Given the description of an element on the screen output the (x, y) to click on. 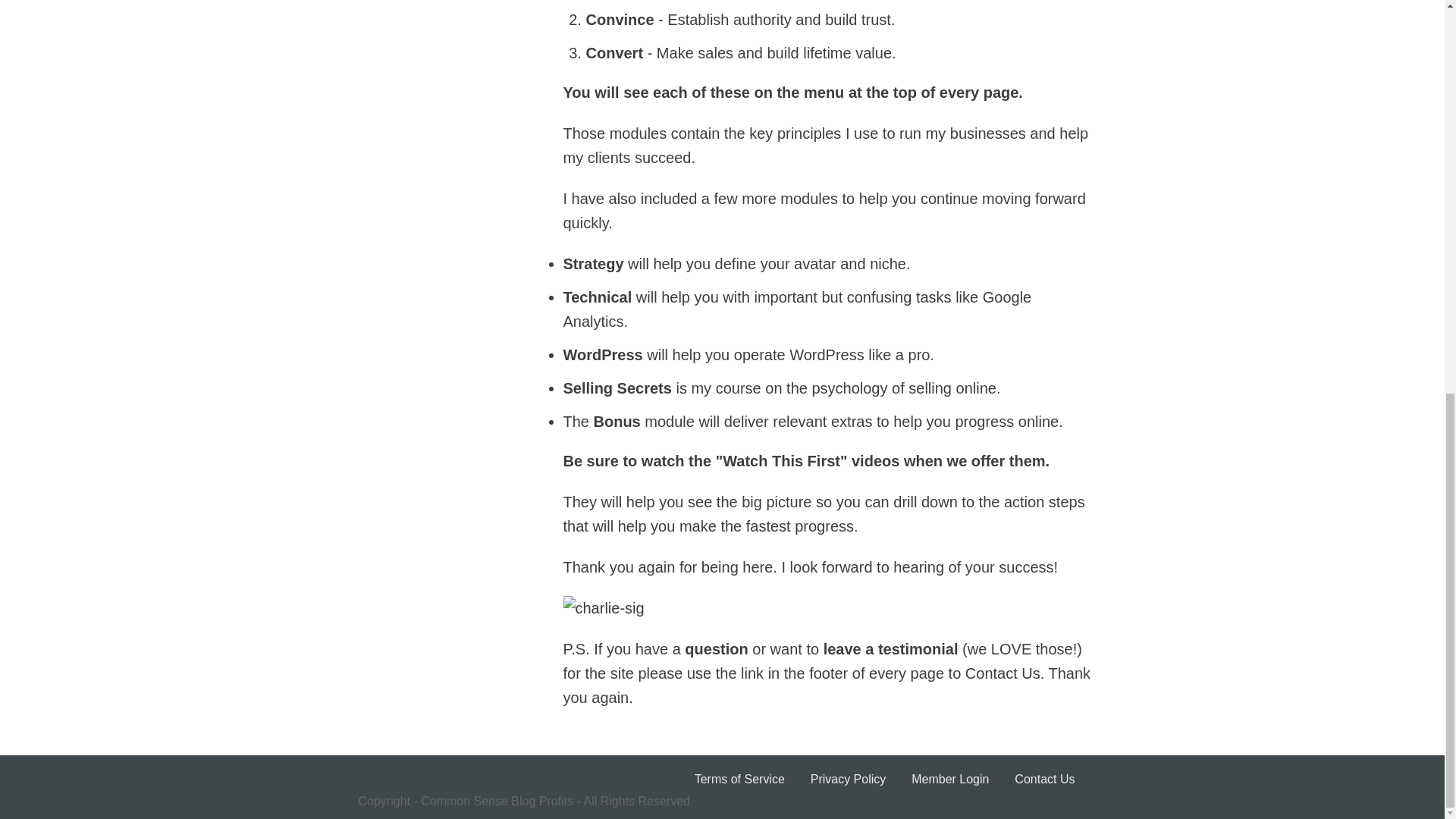
Member Login (949, 779)
Privacy Policy (848, 779)
Contact Us (1044, 779)
Terms of Service (739, 779)
